Given the description of an element on the screen output the (x, y) to click on. 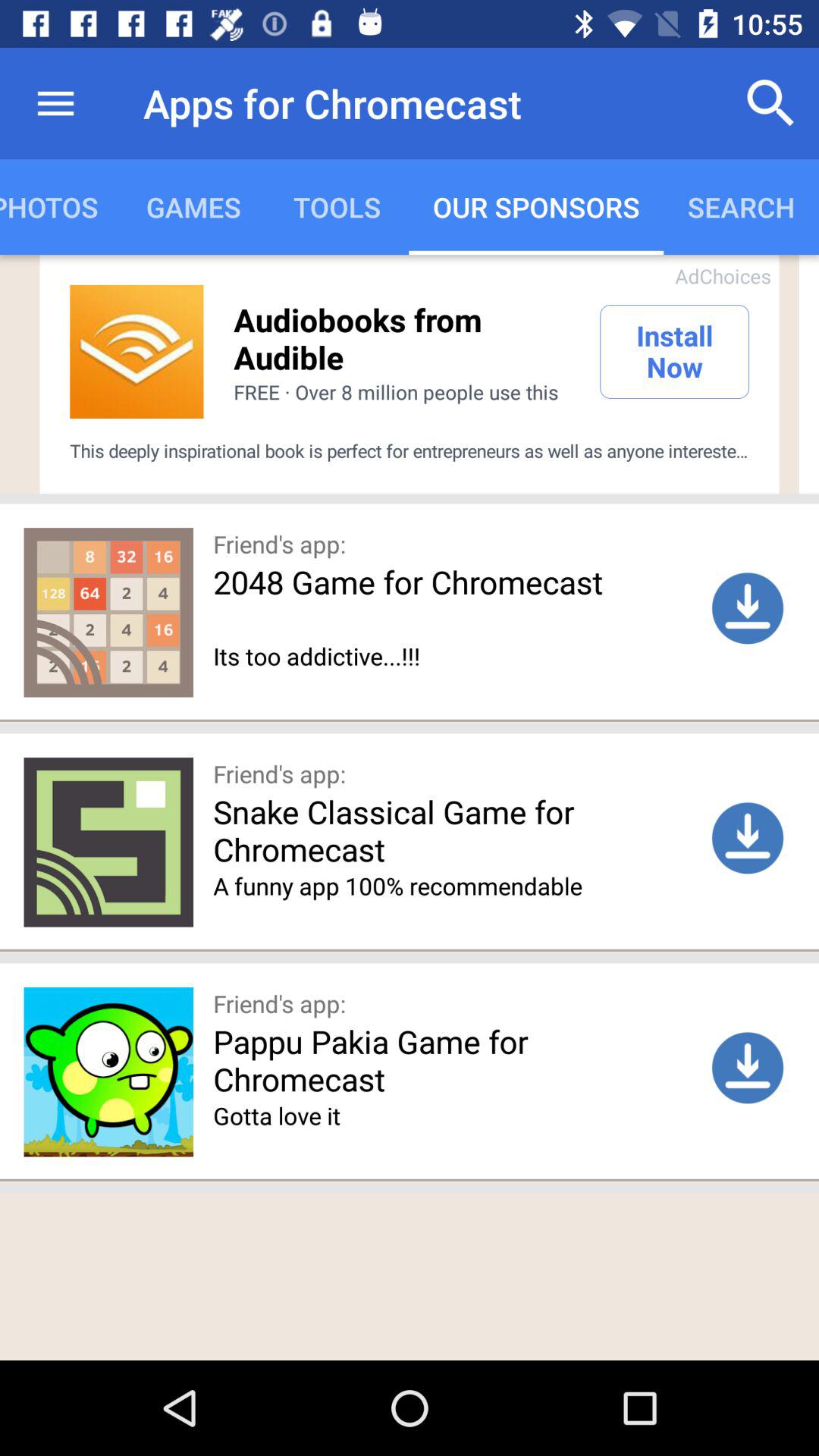
click on the last button in the menu bar (741, 206)
